Given the description of an element on the screen output the (x, y) to click on. 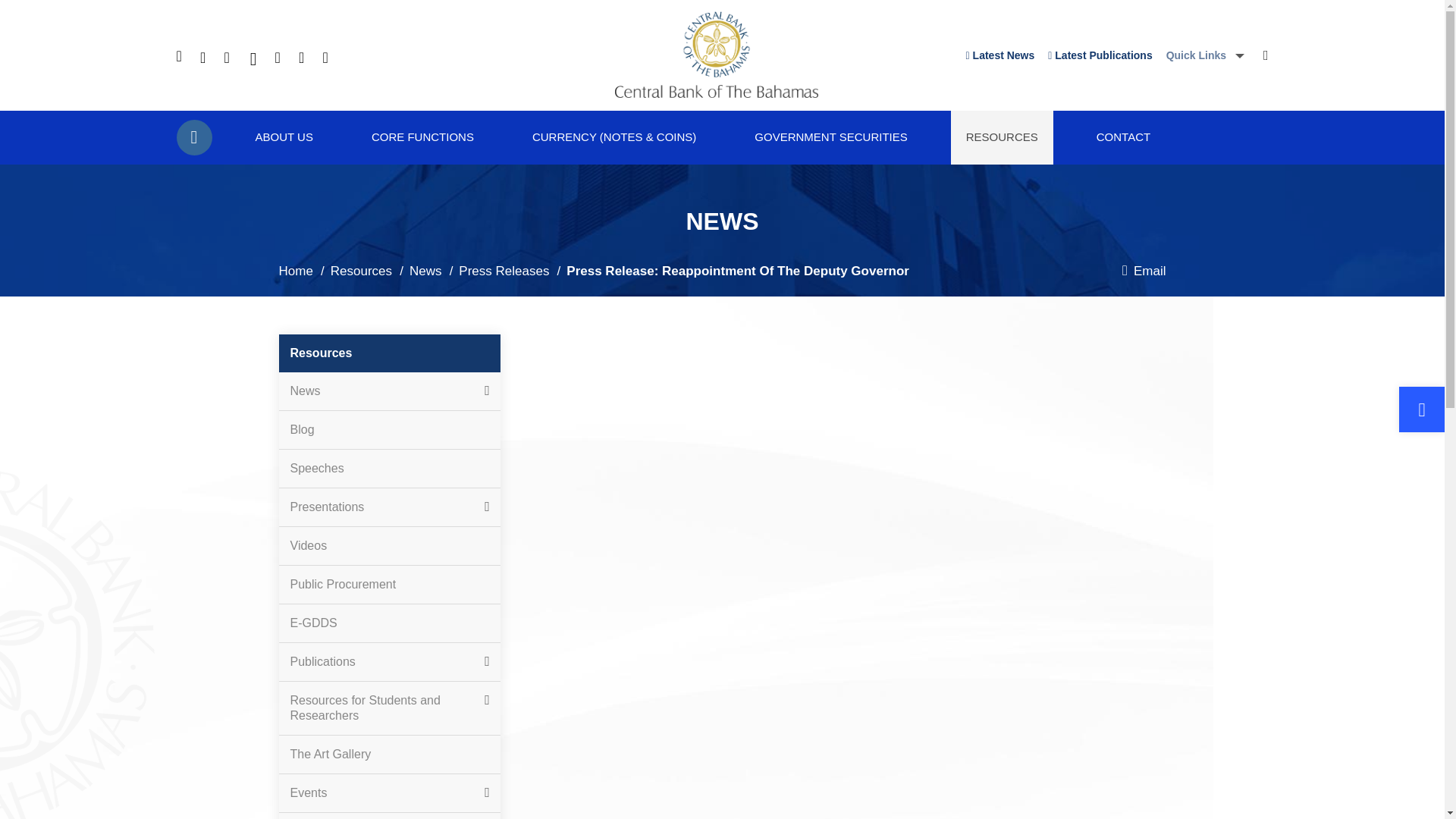
HOME (193, 137)
Latest Publications (1099, 54)
Latest Publications (1099, 54)
Latest News (1000, 54)
Latest News (1000, 54)
Quick Links (1205, 54)
ABOUT US (283, 137)
Quick Links (1205, 54)
Central Bank of The Bahamas (716, 54)
Central Bank of The Bahamas (716, 92)
